Given the description of an element on the screen output the (x, y) to click on. 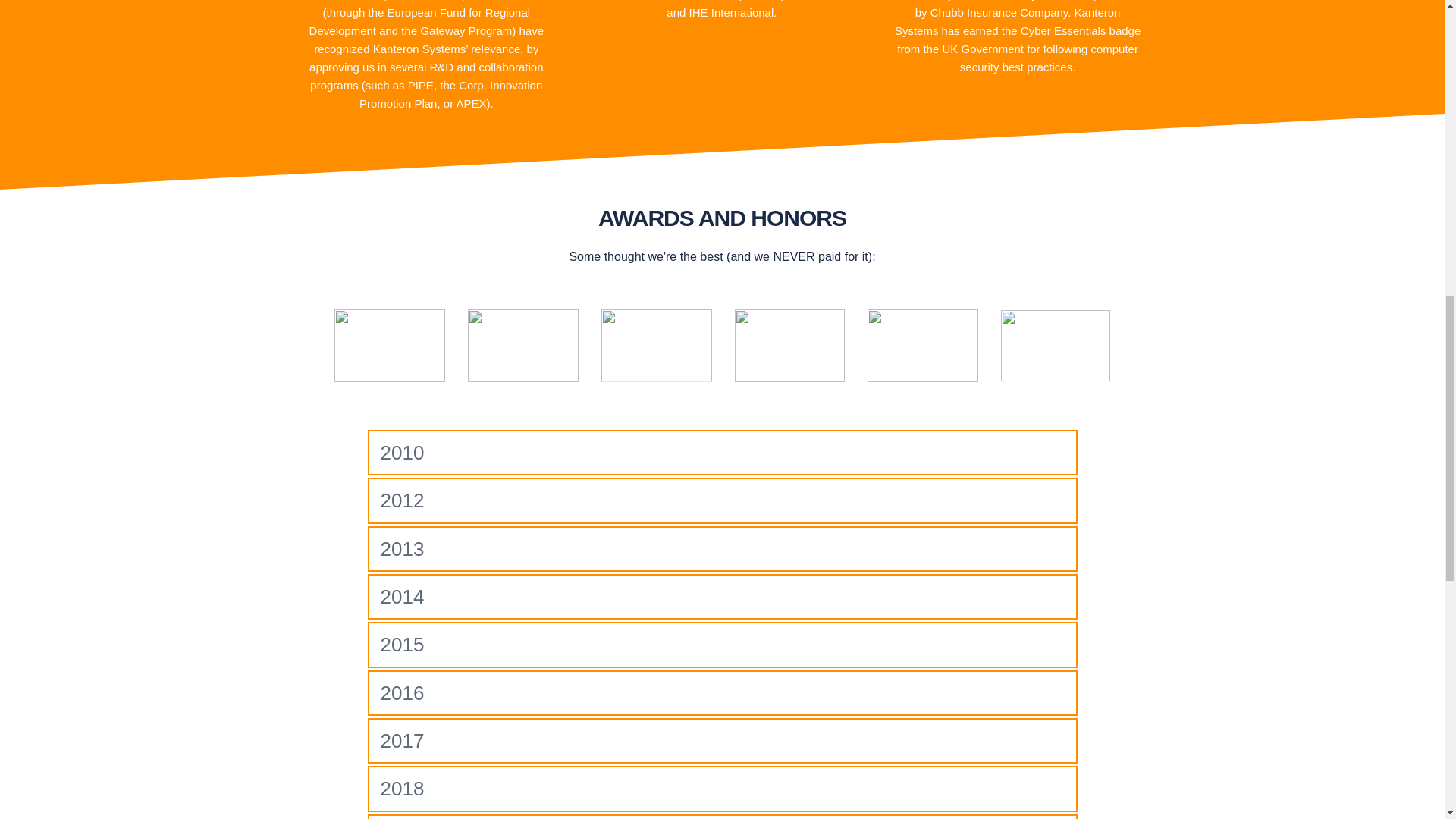
European Fund for Regional Development (421, 20)
PIPE (420, 84)
Gateway Program (466, 30)
